Given the description of an element on the screen output the (x, y) to click on. 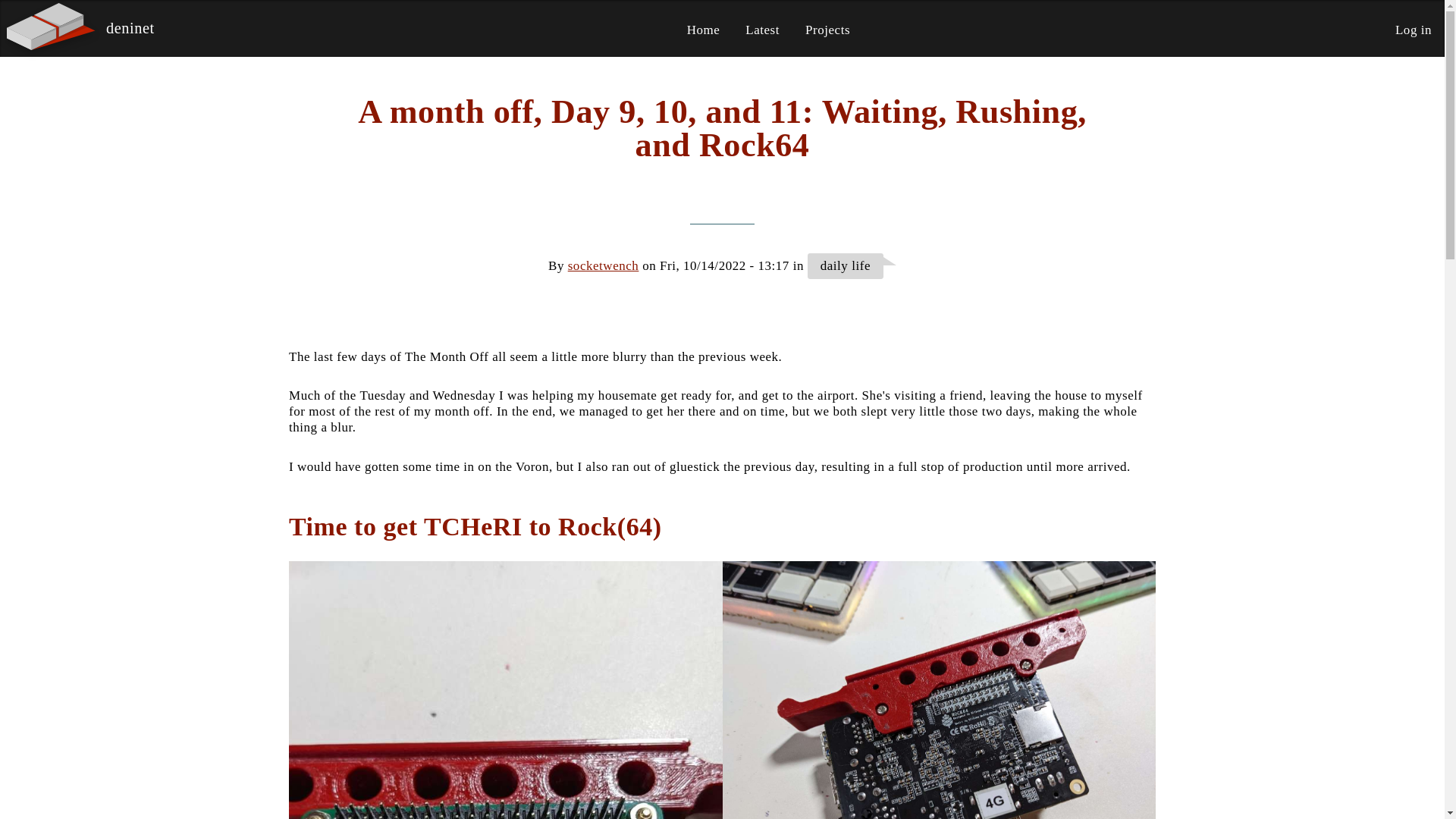
View user profile. (603, 265)
daily life (845, 266)
socketwench (603, 265)
Home (703, 29)
Things we've made, past and present (827, 29)
Latest (761, 29)
deninet (130, 28)
Log in (1412, 29)
Projects (827, 29)
deninet.com (53, 29)
deninet.com (130, 28)
A month off, Day 9, 10, and 11: Waiting, Rushing, and Rock64 (722, 128)
Friday, October 14, 2022 - 13:17 (724, 265)
